Given the description of an element on the screen output the (x, y) to click on. 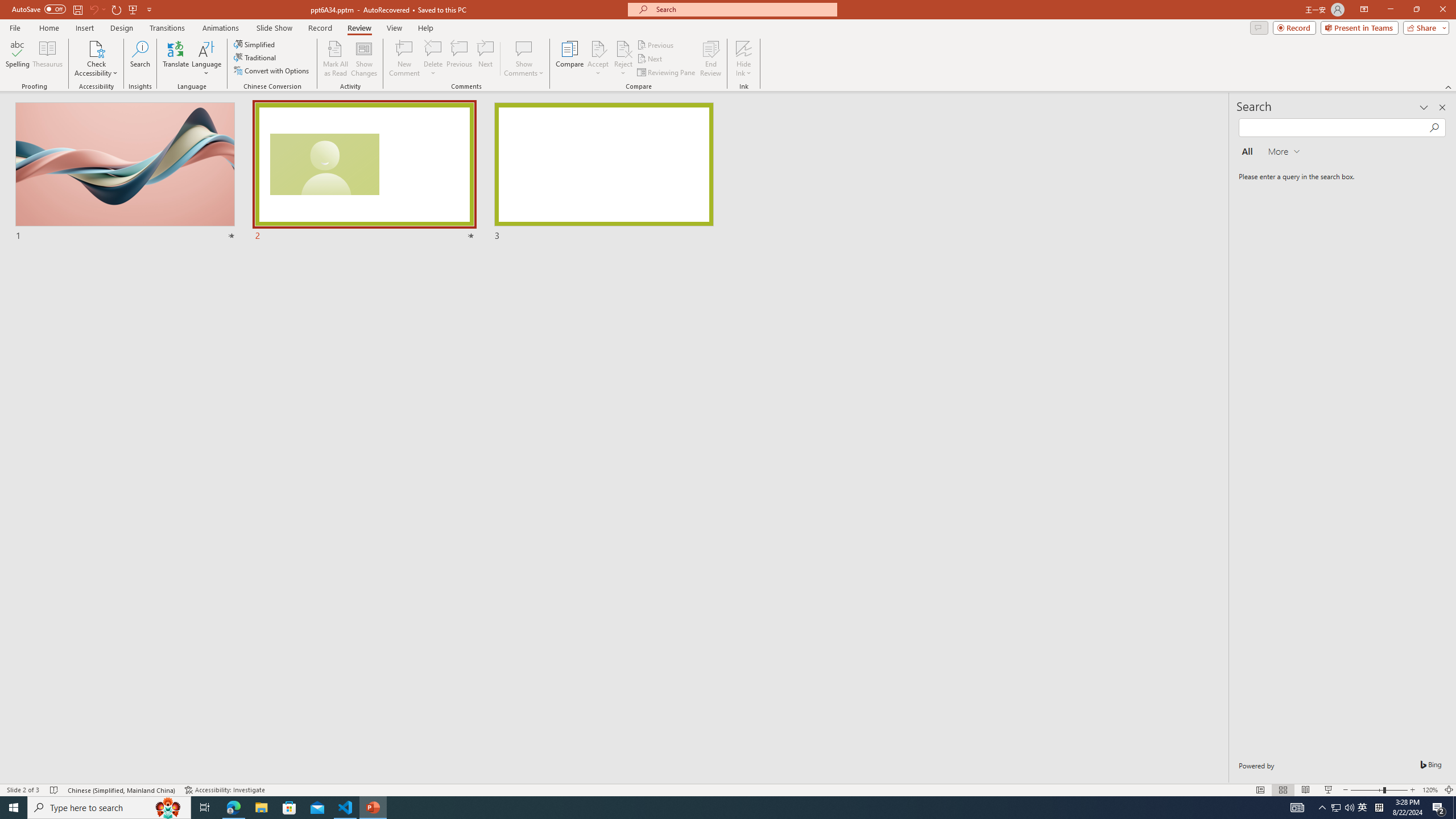
Translate (175, 58)
Show Changes (363, 58)
Traditional (255, 56)
